Given the description of an element on the screen output the (x, y) to click on. 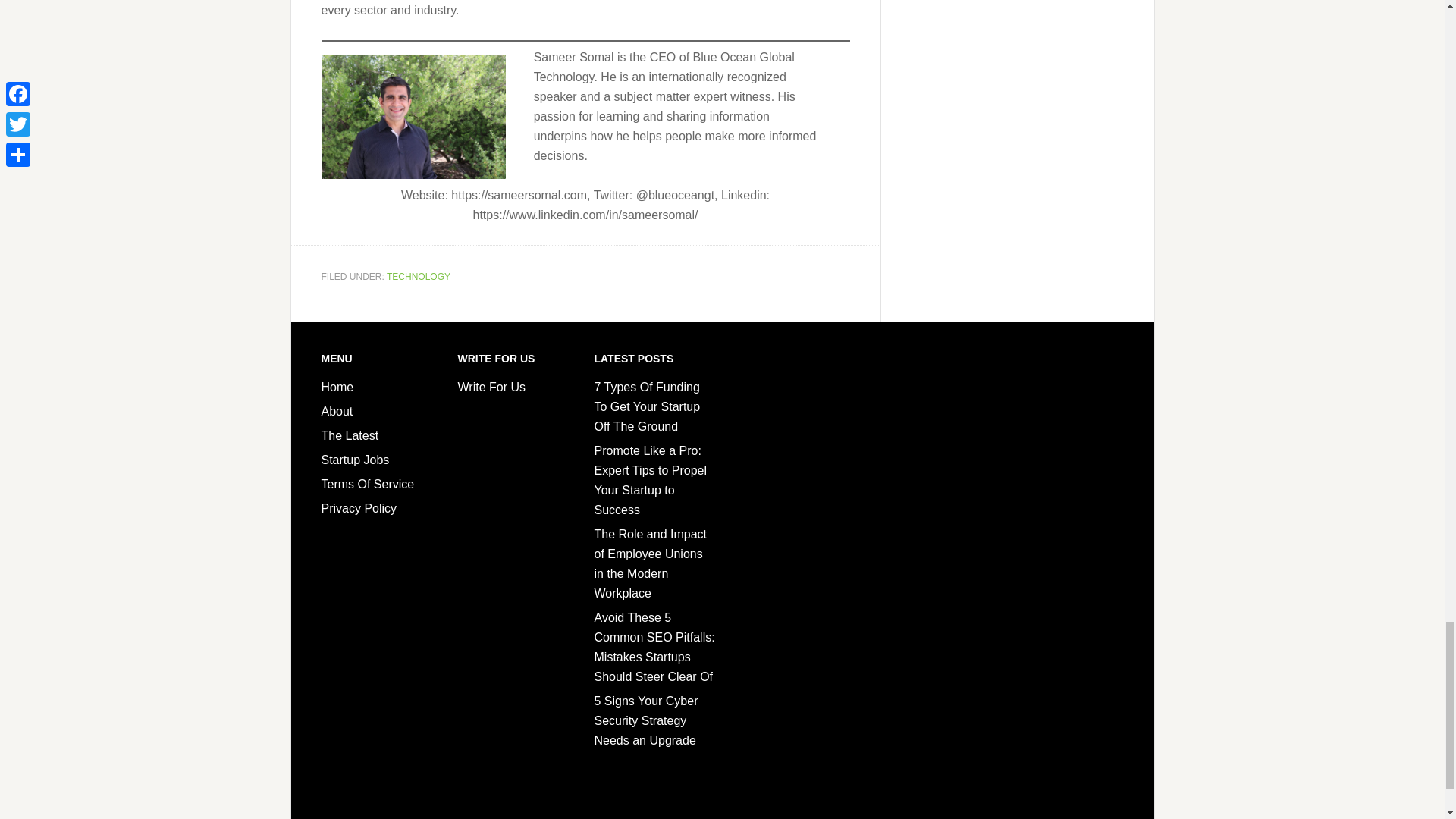
Home (337, 386)
About (337, 410)
TECHNOLOGY (418, 276)
Startup Jobs (355, 459)
The Latest (349, 435)
